Given the description of an element on the screen output the (x, y) to click on. 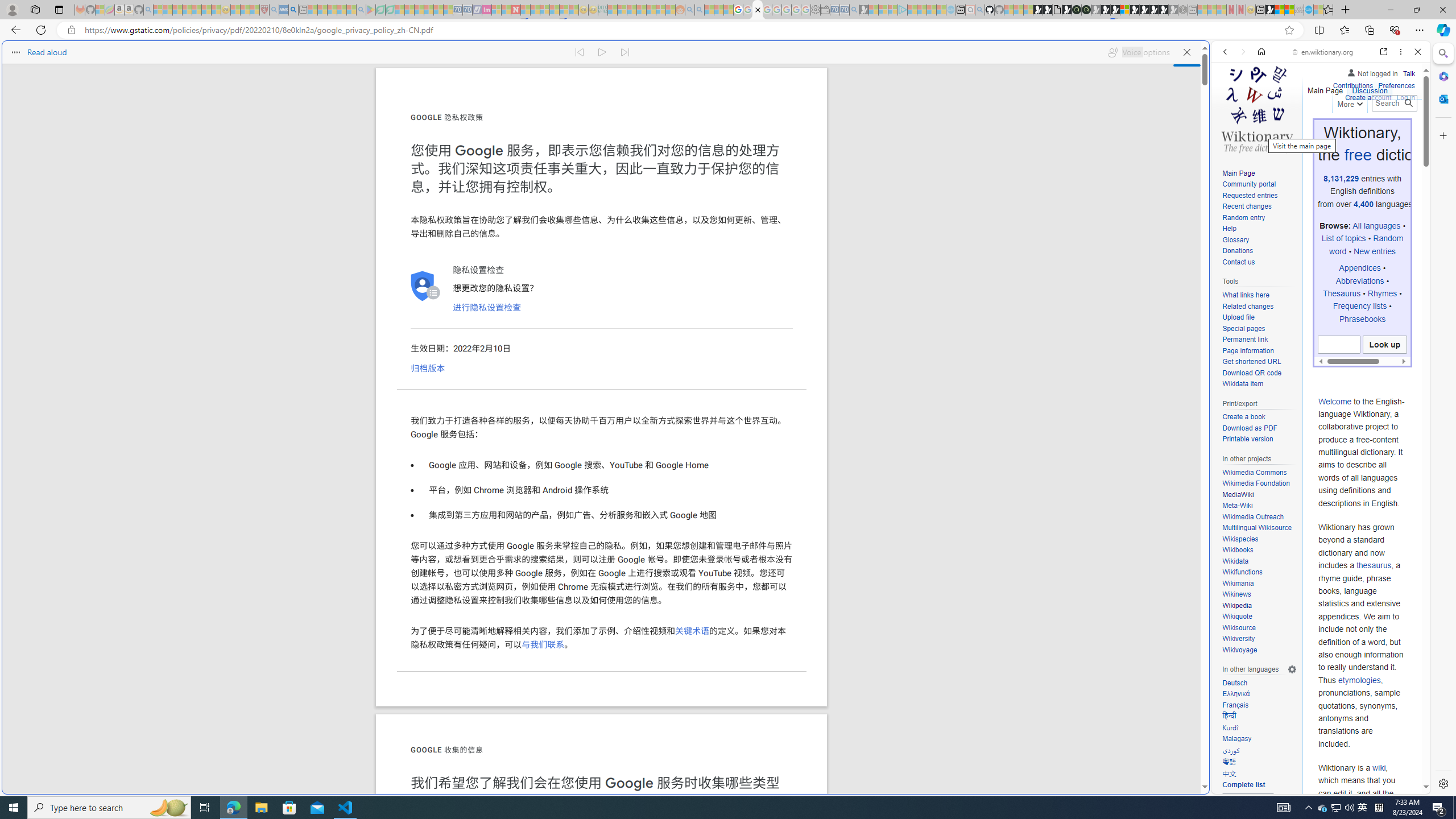
Discussion (1369, 87)
Wikiversity (1238, 638)
Get shortened URL (1259, 361)
Wikimedia Outreach (1252, 516)
